Given the description of an element on the screen output the (x, y) to click on. 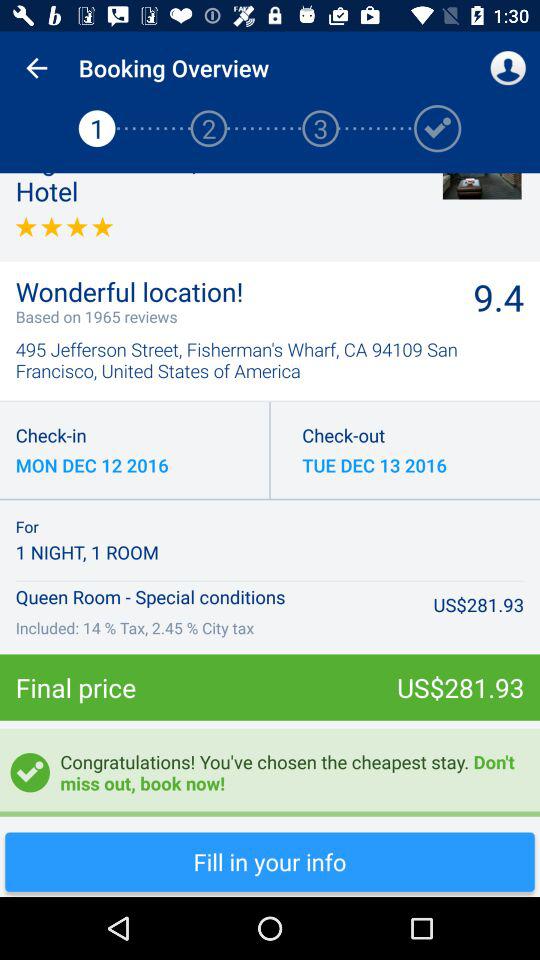
select the fill in your icon (269, 861)
